Given the description of an element on the screen output the (x, y) to click on. 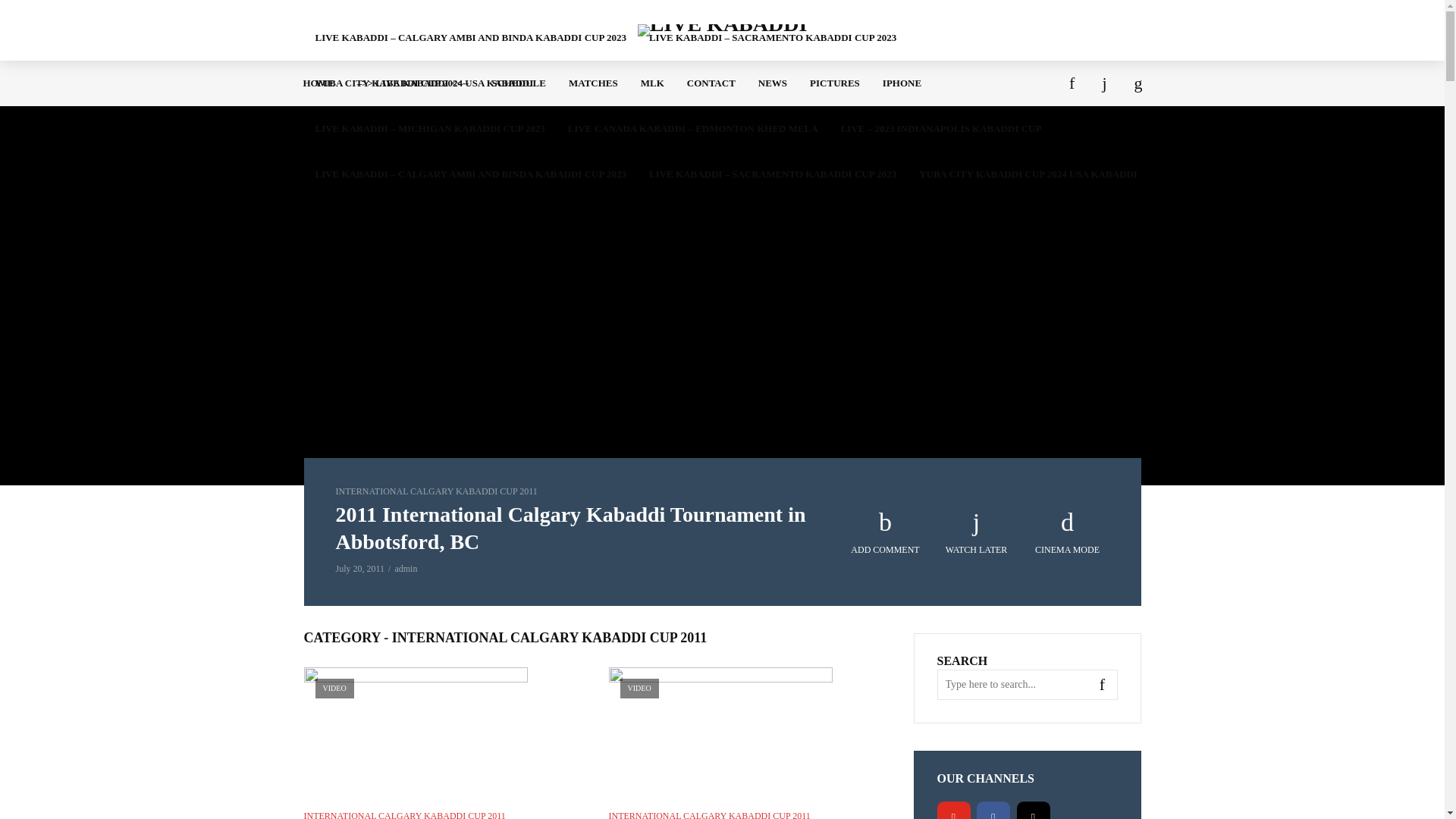
YouTube (954, 810)
IPHONE (901, 83)
NEWS (771, 83)
SCHEDULE (518, 83)
MLK (651, 83)
YUBA CITY KABADDI CUP 2024 USA KABADDI (1027, 174)
Instagram (1032, 810)
PICTURES (833, 83)
CONTACT (710, 83)
